Given the description of an element on the screen output the (x, y) to click on. 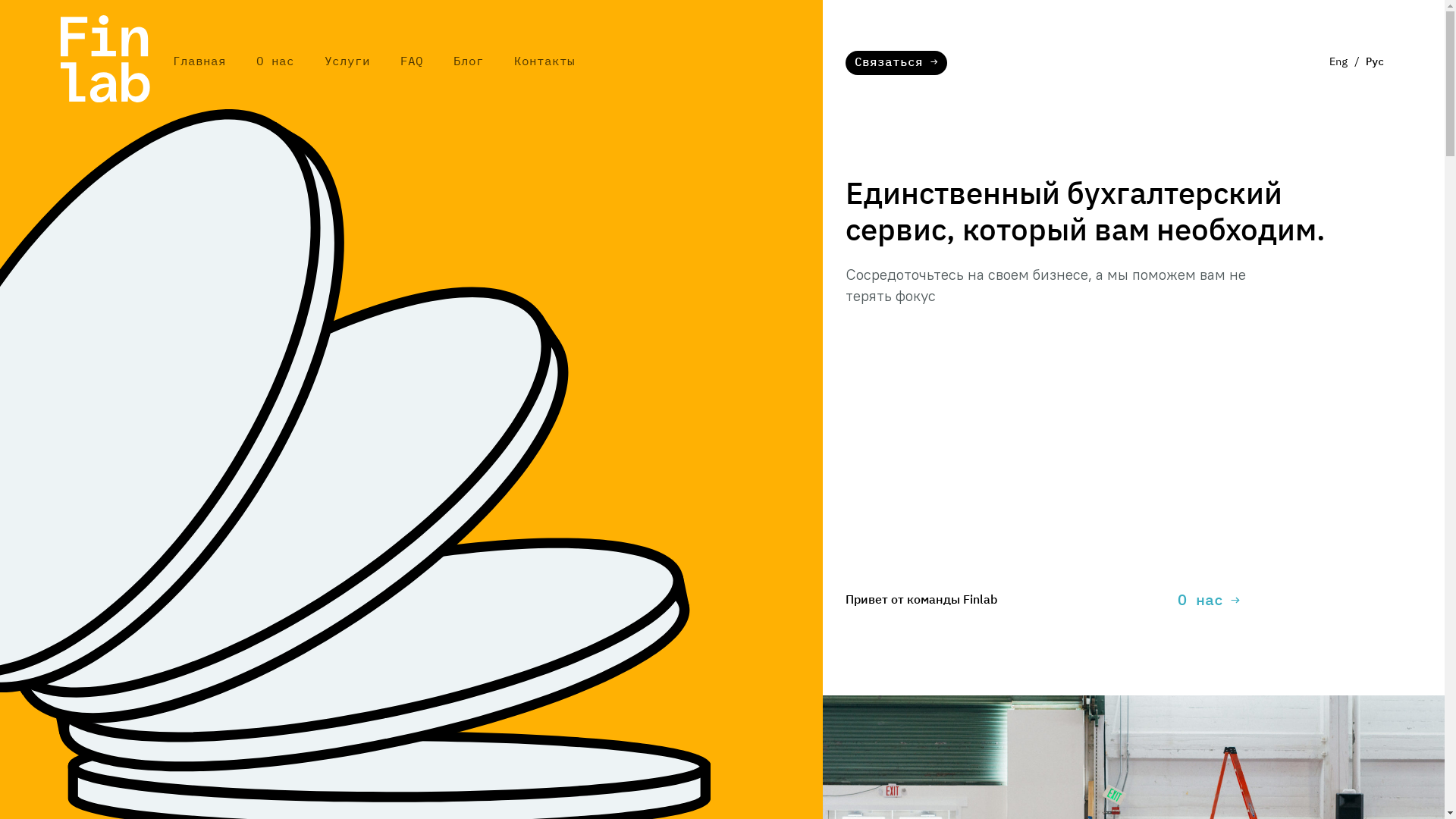
FAQ Element type: text (411, 62)
Eng Element type: text (1338, 61)
